Given the description of an element on the screen output the (x, y) to click on. 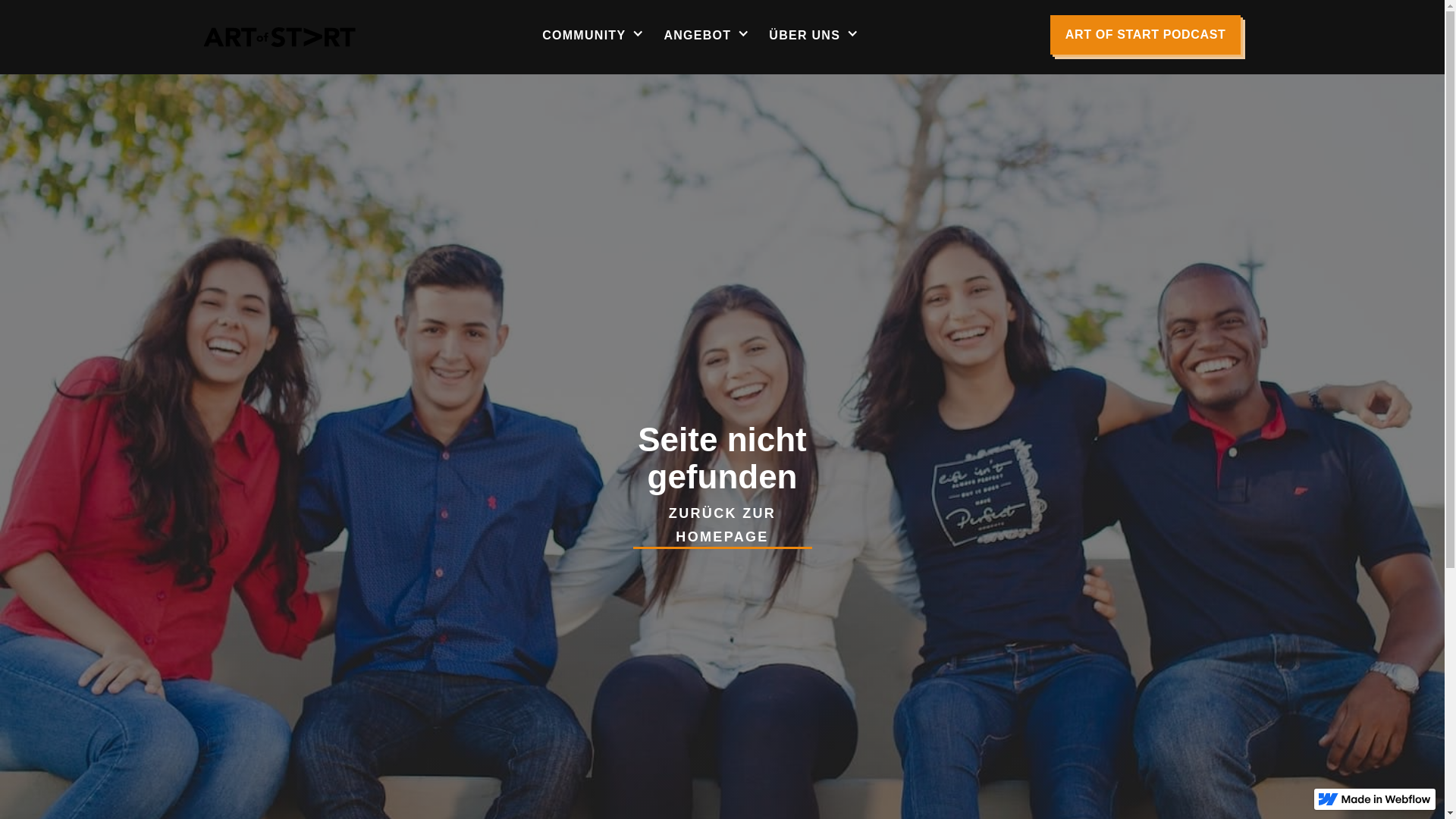
ART OF START PODCAST Element type: text (1145, 34)
